Given the description of an element on the screen output the (x, y) to click on. 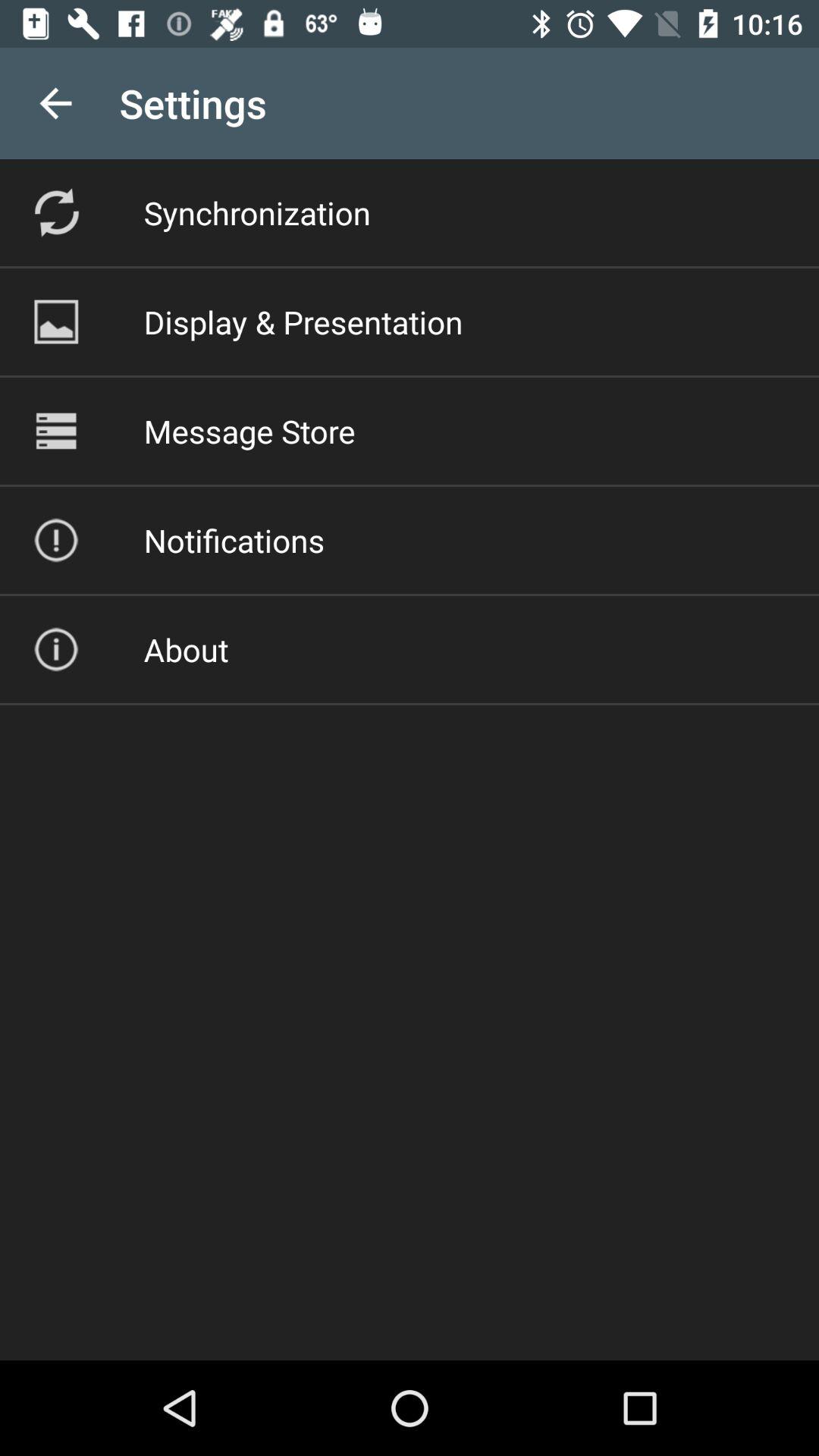
press app next to the settings icon (55, 103)
